Given the description of an element on the screen output the (x, y) to click on. 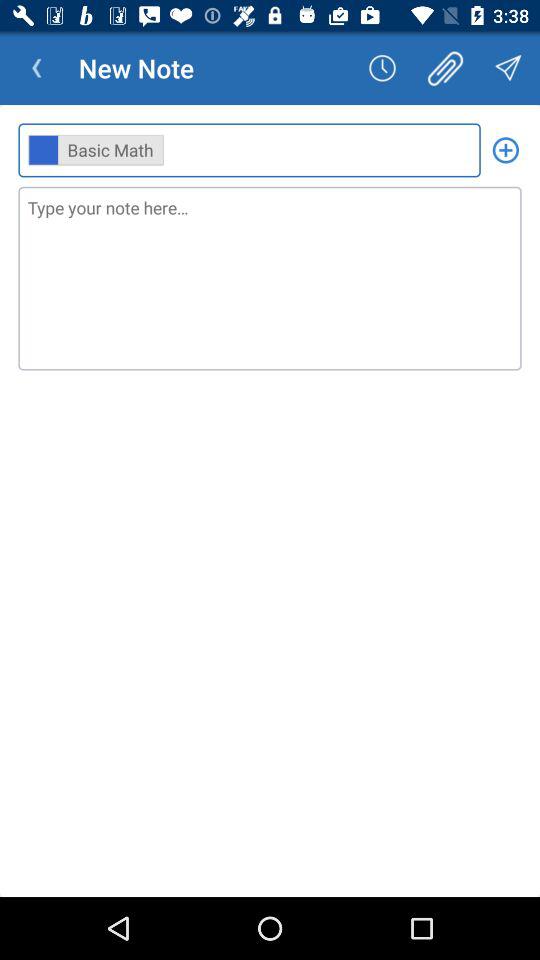
enter text here (269, 278)
